Given the description of an element on the screen output the (x, y) to click on. 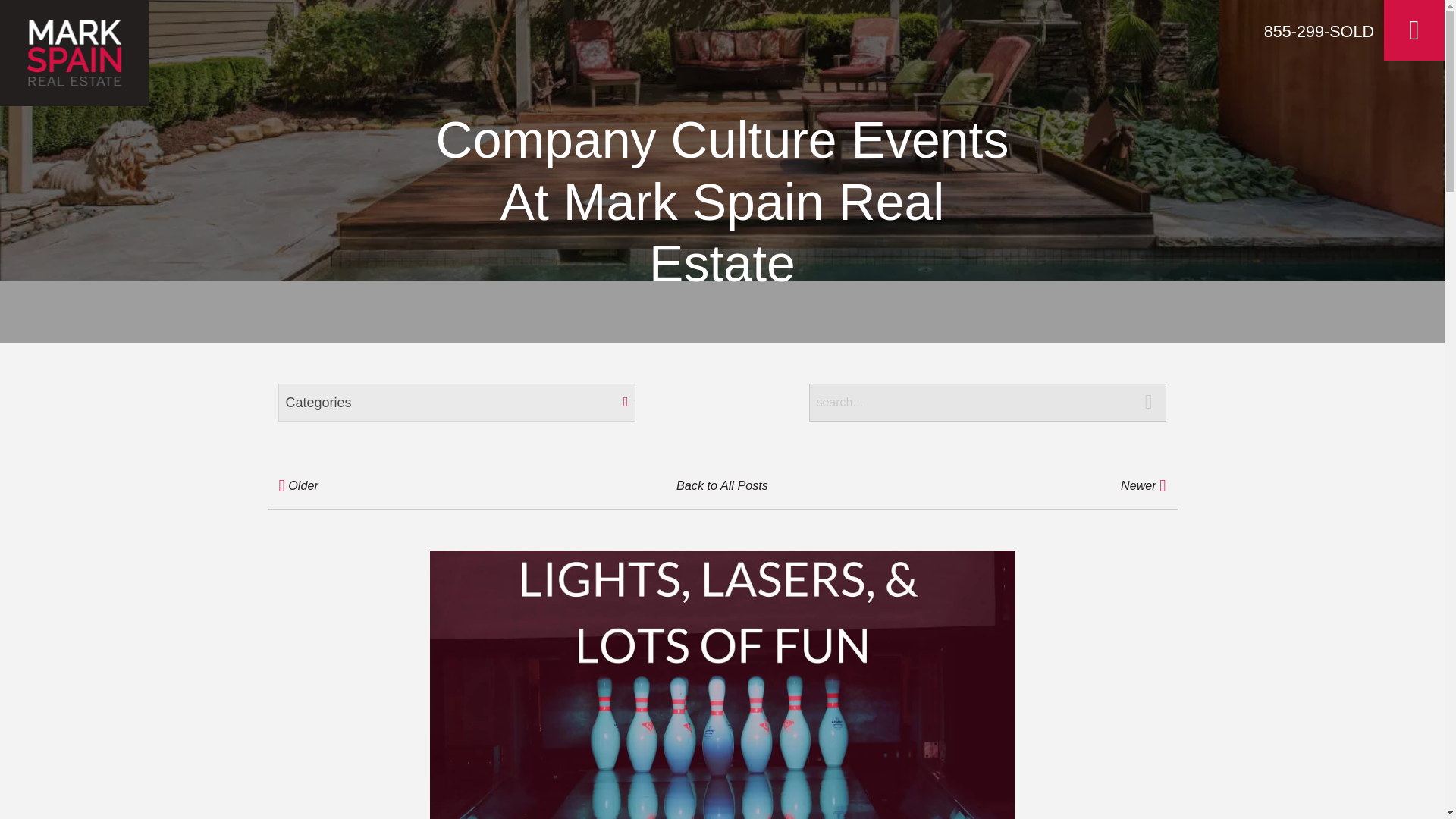
Back to All Posts (720, 484)
Newer (1025, 485)
Older (418, 485)
855-299-SOLD (1318, 31)
